Given the description of an element on the screen output the (x, y) to click on. 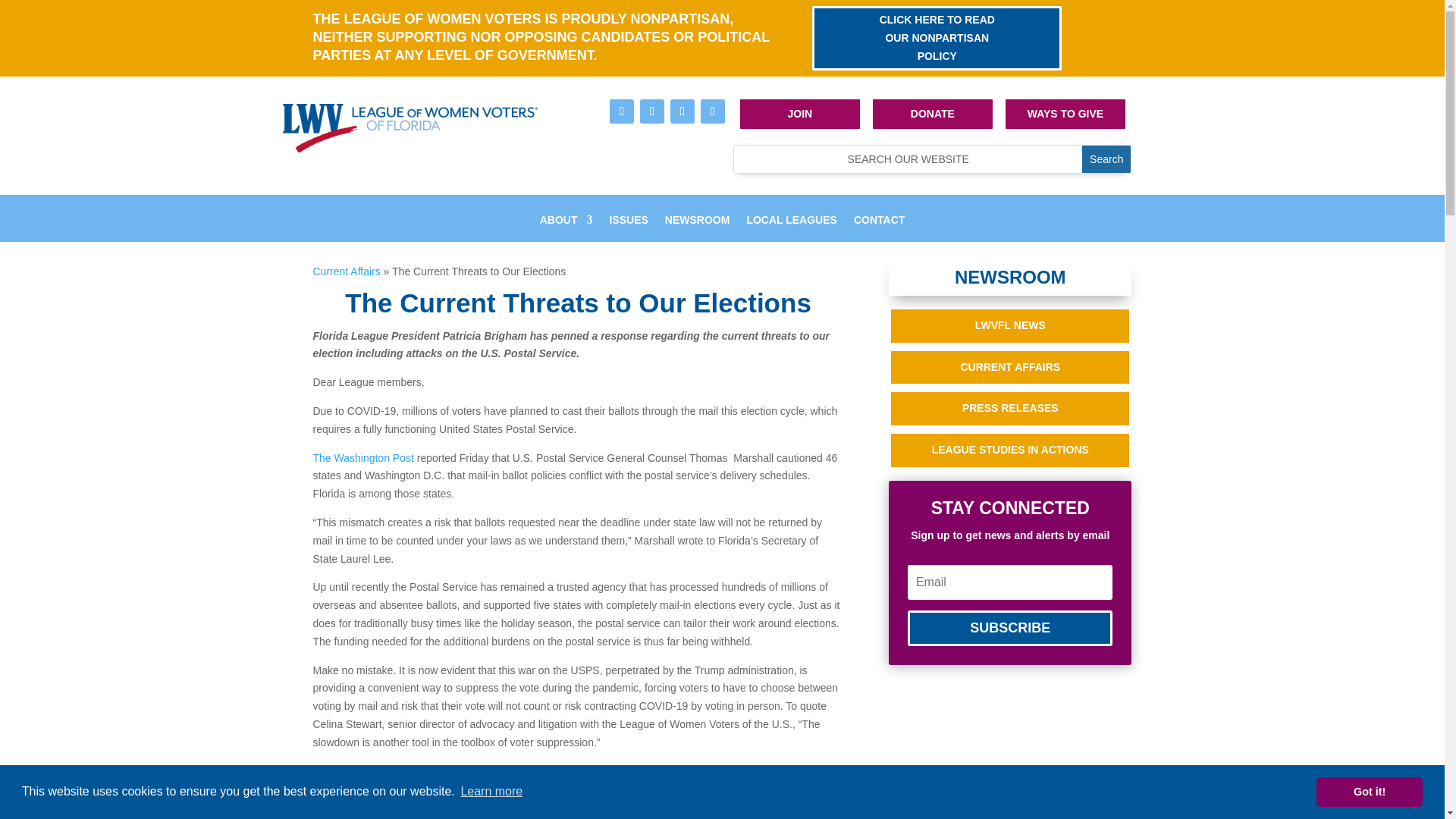
Search (1106, 158)
The Washington Post (363, 458)
Search (1106, 158)
Got it! (1369, 791)
Learn more (491, 791)
LWVFL NEWS (1009, 325)
WAYS TO GIVE (1065, 113)
Follow on Instagram (651, 111)
NEWSROOM (697, 230)
JOIN (799, 113)
SUBSCRIBE (1009, 628)
PRESS RELEASES (1009, 408)
Follow on Facebook (621, 111)
CLICK HERE TO READ OUR NONPARTISAN POLICY (936, 37)
CURRENT AFFAIRS (1009, 367)
